Given the description of an element on the screen output the (x, y) to click on. 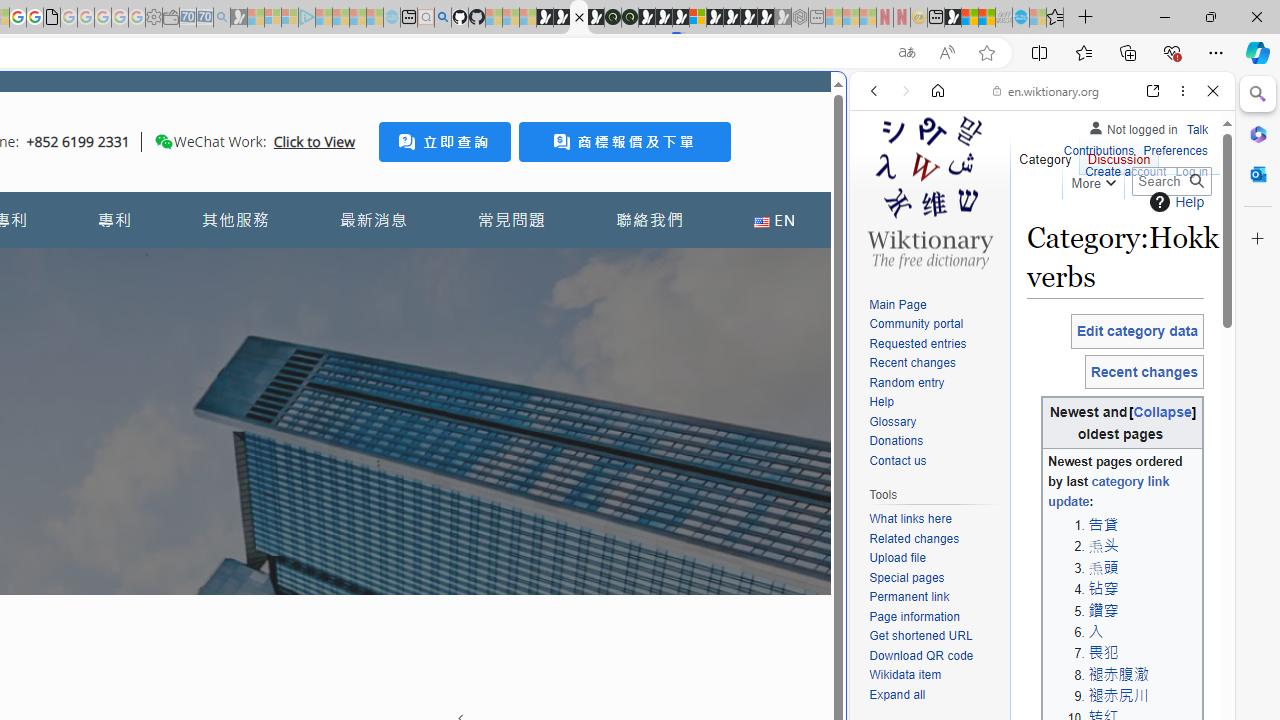
More (1092, 179)
Log in (1191, 169)
Page information (934, 616)
Wikidata item (905, 675)
Future Focus Report 2024 (629, 17)
